Given the description of an element on the screen output the (x, y) to click on. 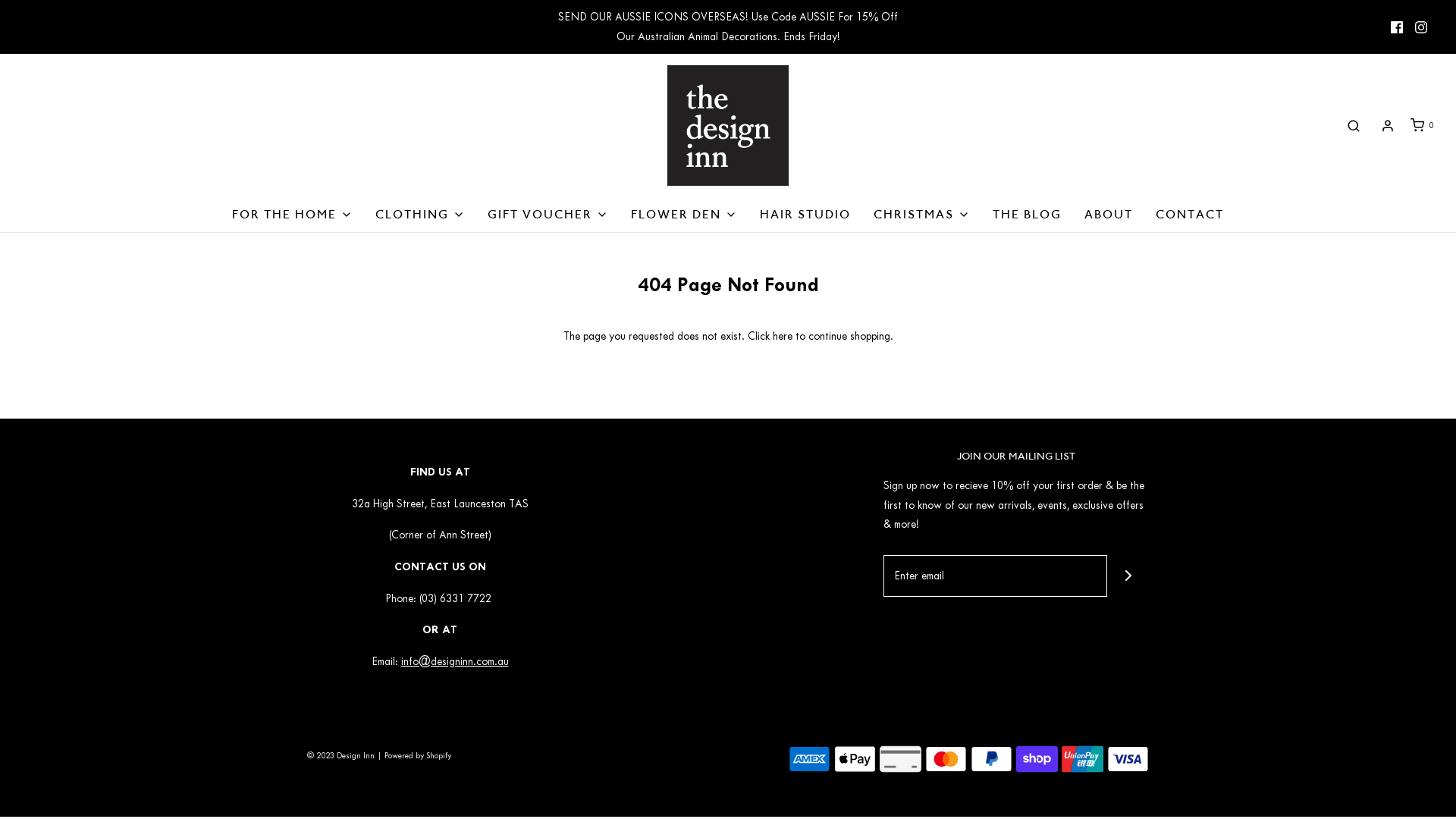
0 Element type: text (1420, 125)
Log in Element type: hover (1387, 125)
Facebook icon Element type: text (1396, 27)
here Element type: text (781, 335)
THE BLOG Element type: text (1026, 214)
ABOUT Element type: text (1108, 214)
CONTACT Element type: text (1189, 214)
Instagram icon Element type: text (1420, 27)
GIFT VOUCHER Element type: text (547, 214)
CLOTHING Element type: text (419, 214)
Powered by Shopify Element type: text (417, 755)
FLOWER DEN Element type: text (683, 214)
info@designinn.com.au Element type: text (454, 661)
CHRISTMAS Element type: text (921, 214)
HAIR STUDIO Element type: text (804, 214)
FOR THE HOME Element type: text (292, 214)
Search Element type: hover (1353, 125)
